Given the description of an element on the screen output the (x, y) to click on. 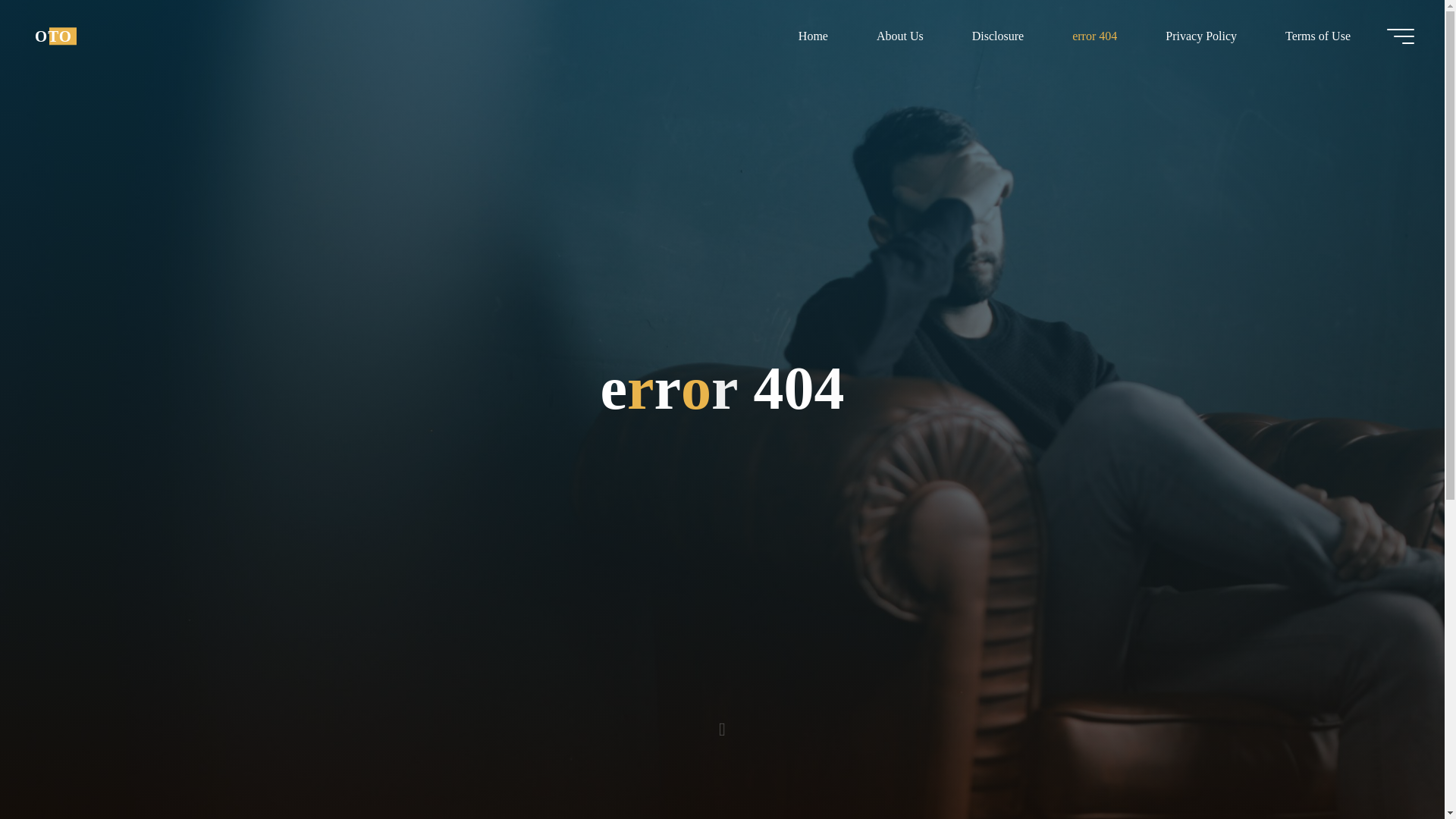
Disclosure (997, 35)
Terms of Use (1317, 35)
error 404 (1094, 35)
Home (812, 35)
Privacy Policy (1200, 35)
About Us (899, 35)
Read more (721, 724)
OTO (53, 36)
